Given the description of an element on the screen output the (x, y) to click on. 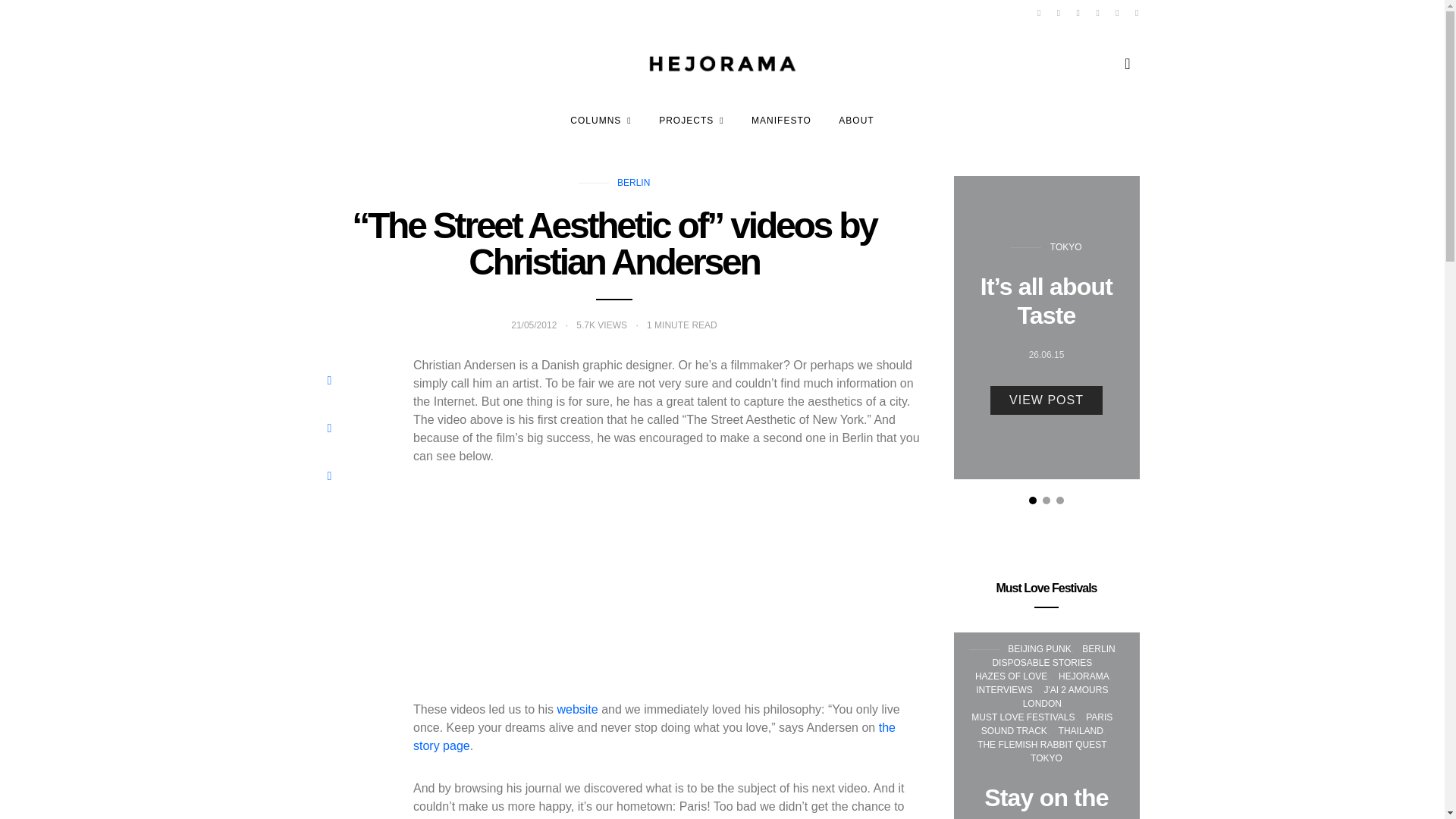
website (576, 708)
COLUMNS (600, 120)
PROJECTS (691, 120)
MANIFESTO (780, 120)
the story page (654, 736)
ABOUT (855, 120)
BERLIN (633, 182)
